Given the description of an element on the screen output the (x, y) to click on. 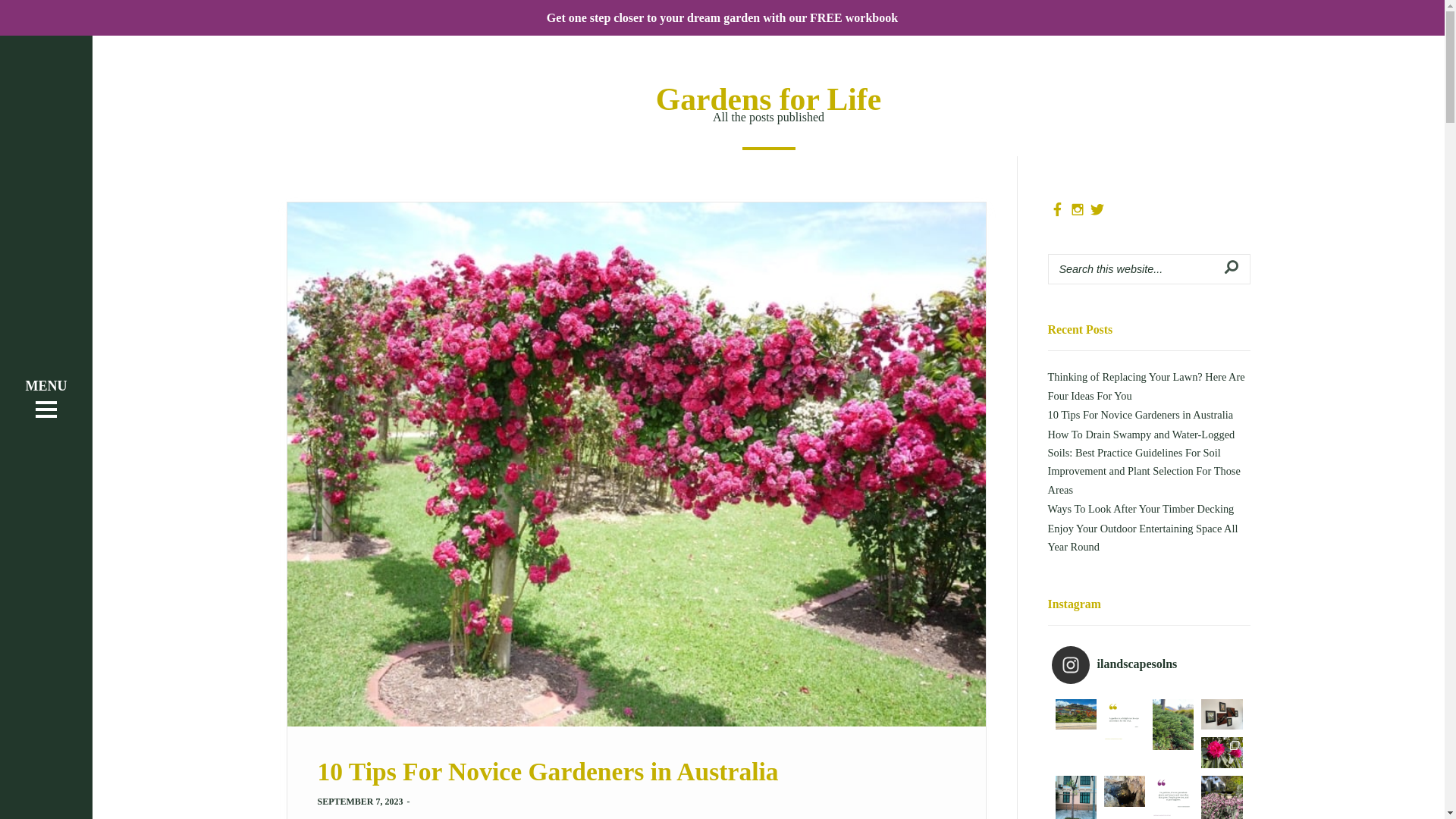
10 Tips For Novice Gardeners in Australia Element type: text (547, 771)
Twitter Element type: hover (1097, 209)
contact@inspiringlandscapes.com.au Element type: text (1191, 765)
Facebook Element type: hover (1057, 209)
Ways To Look After Your Timber Decking Element type: text (1141, 508)
Thinking of Replacing Your Lawn? Here Are Four Ideas For You Element type: text (1146, 385)
+614 0332 9128 Element type: text (1224, 744)
10 Tips For Novice Gardeners in Australia Element type: text (1140, 414)
ilandscapesolns Element type: text (1148, 665)
Enjoy Your Outdoor Entertaining Space All Year Round Element type: text (1143, 537)
Instagram Element type: hover (1077, 209)
